Given the description of an element on the screen output the (x, y) to click on. 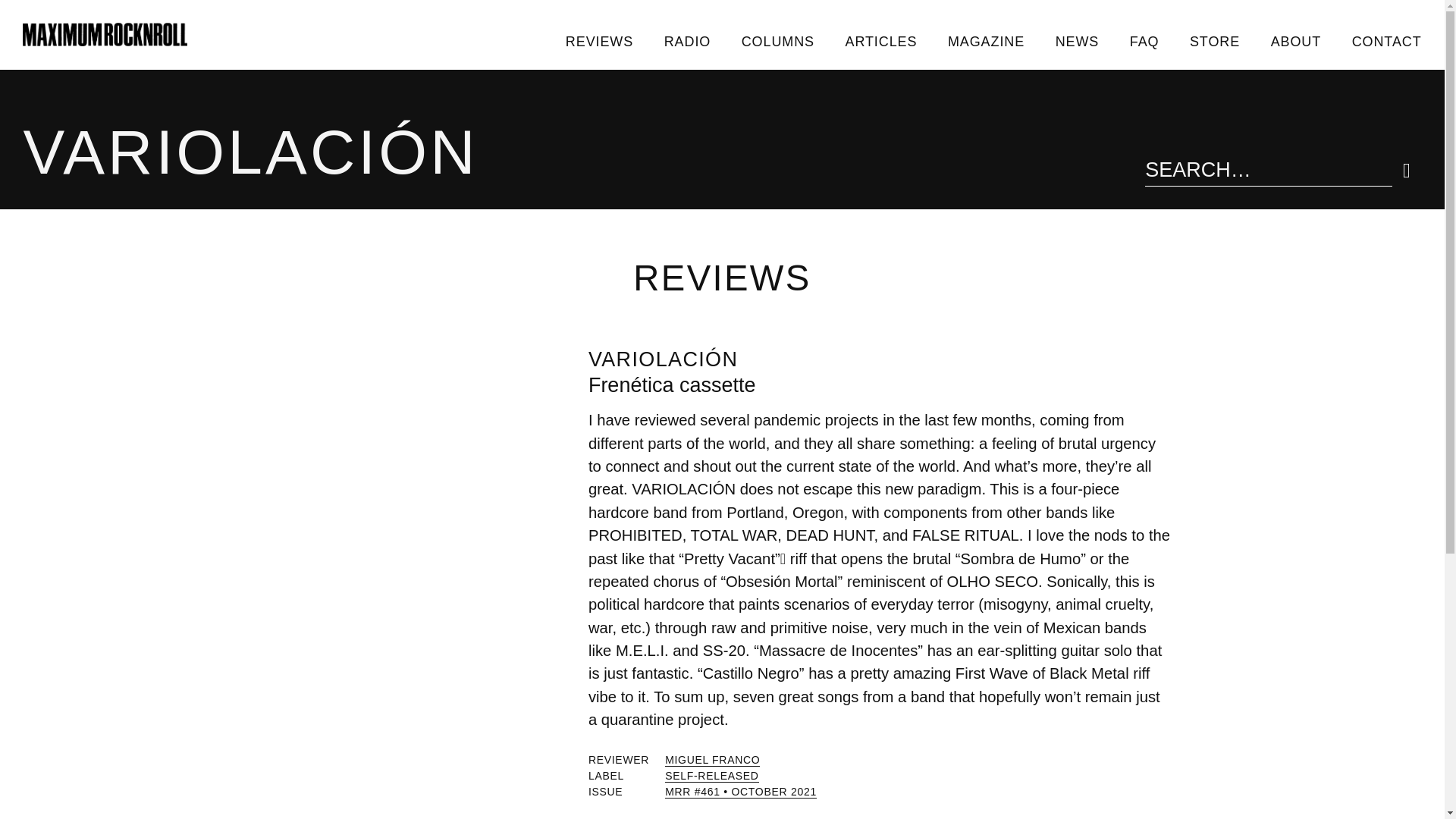
SELF-RELEASED (711, 775)
CONTACT (1385, 41)
FAQ (1143, 41)
MIGUEL FRANCO (712, 759)
ABOUT (1295, 41)
STORE (1214, 41)
NEWS (1076, 41)
MAGAZINE (987, 41)
REVIEWS (599, 41)
RADIO (686, 41)
COLUMNS (777, 41)
ARTICLES (880, 41)
